Given the description of an element on the screen output the (x, y) to click on. 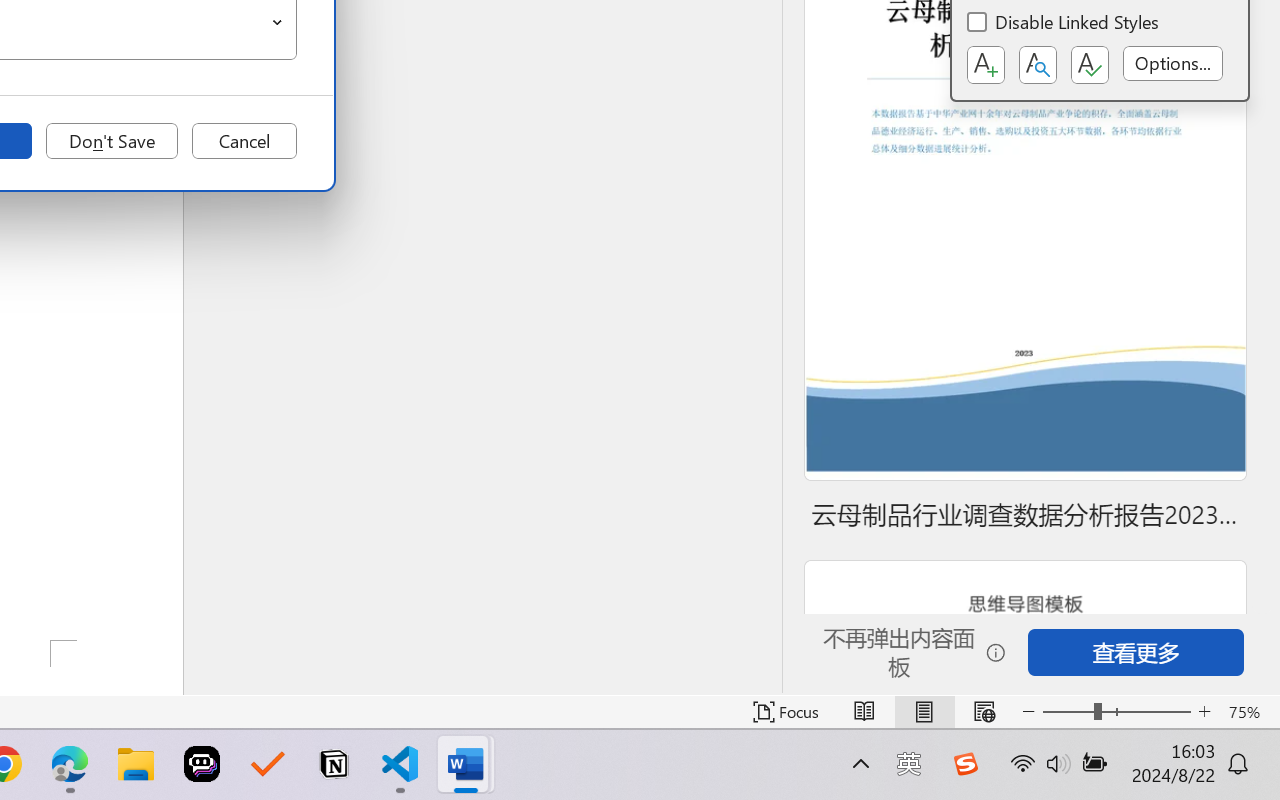
Read Mode (864, 712)
Print Layout (924, 712)
Web Layout (984, 712)
Class: Image (965, 764)
Poe (201, 764)
Don't Save (111, 141)
Class: NetUIButton (1089, 65)
Zoom (1116, 712)
